Given the description of an element on the screen output the (x, y) to click on. 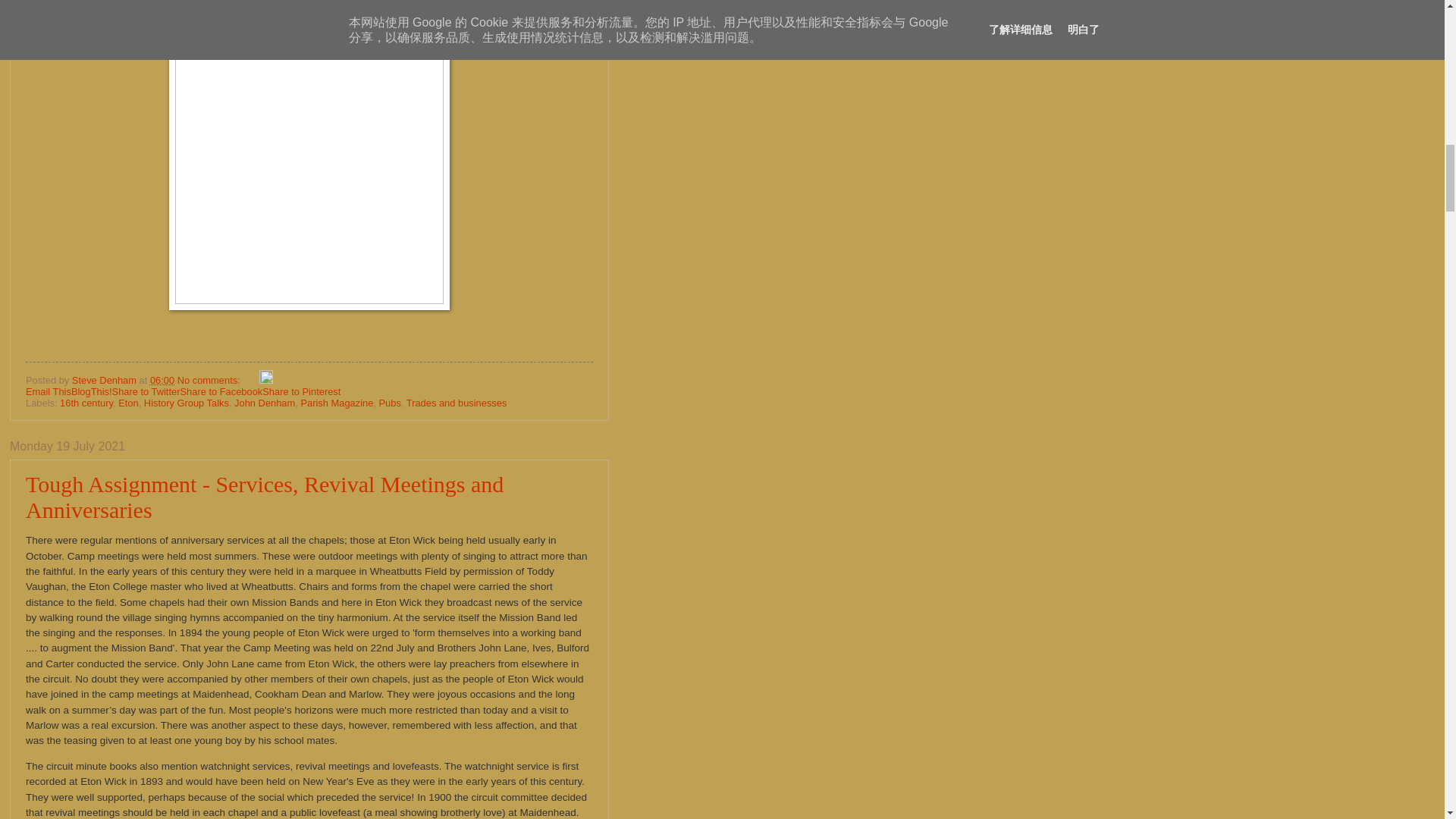
Steve Denham (105, 379)
BlogThis! (91, 391)
Share to Facebook (220, 391)
author profile (105, 379)
Pubs (389, 402)
Share to Facebook (220, 391)
06:00 (161, 379)
Share to Twitter (146, 391)
BlogThis! (91, 391)
Share to Pinterest (301, 391)
John Denham (264, 402)
Share to Pinterest (301, 391)
Share to Twitter (146, 391)
permanent link (161, 379)
Email This (48, 391)
